Given the description of an element on the screen output the (x, y) to click on. 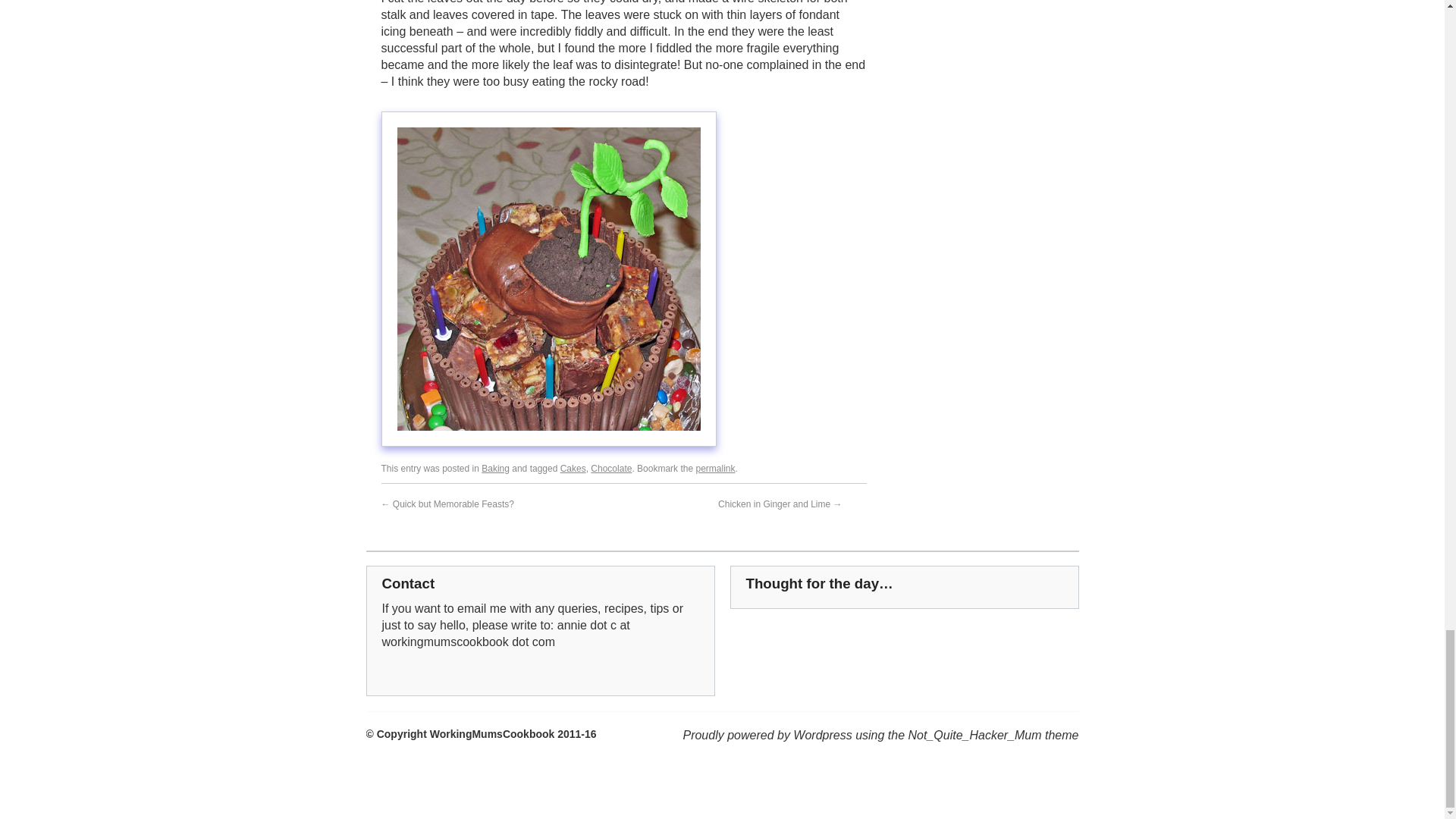
Cakes (573, 468)
Permalink to Wall-E cake (715, 468)
Baking (495, 468)
Chocolate (611, 468)
permalink (715, 468)
